Given the description of an element on the screen output the (x, y) to click on. 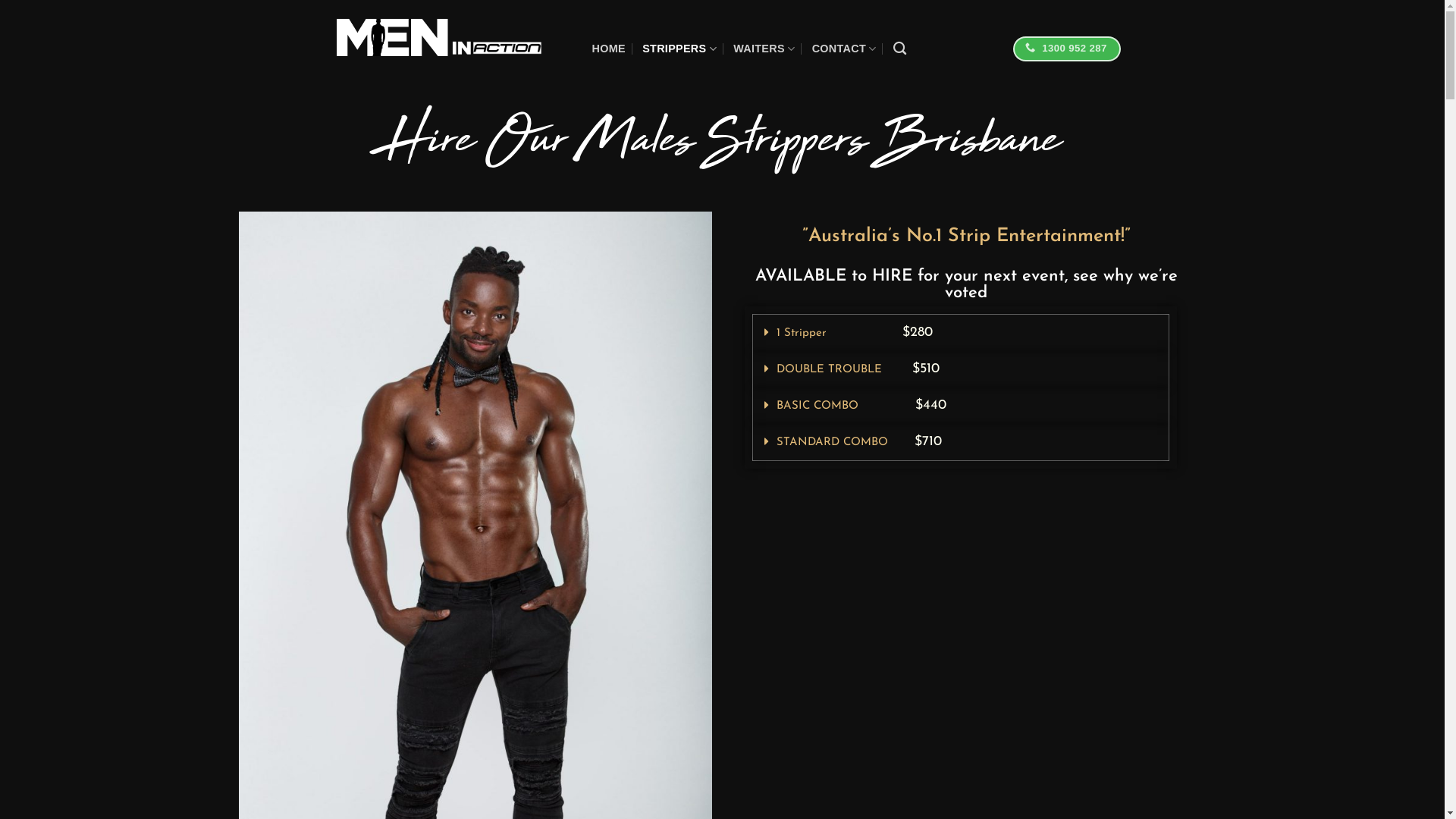
1300 952 287 Element type: text (1066, 48)
CONTACT Element type: text (844, 48)
1 Stripper                    $280 Element type: text (854, 332)
DOUBLE TROUBLE        $510 Element type: text (857, 369)
STRIPPERS Element type: text (679, 48)
STANDARD COMBO       $710 Element type: text (858, 442)
WAITERS Element type: text (763, 48)
HOME Element type: text (607, 48)
BASIC COMBO               $440 Element type: text (861, 405)
